Given the description of an element on the screen output the (x, y) to click on. 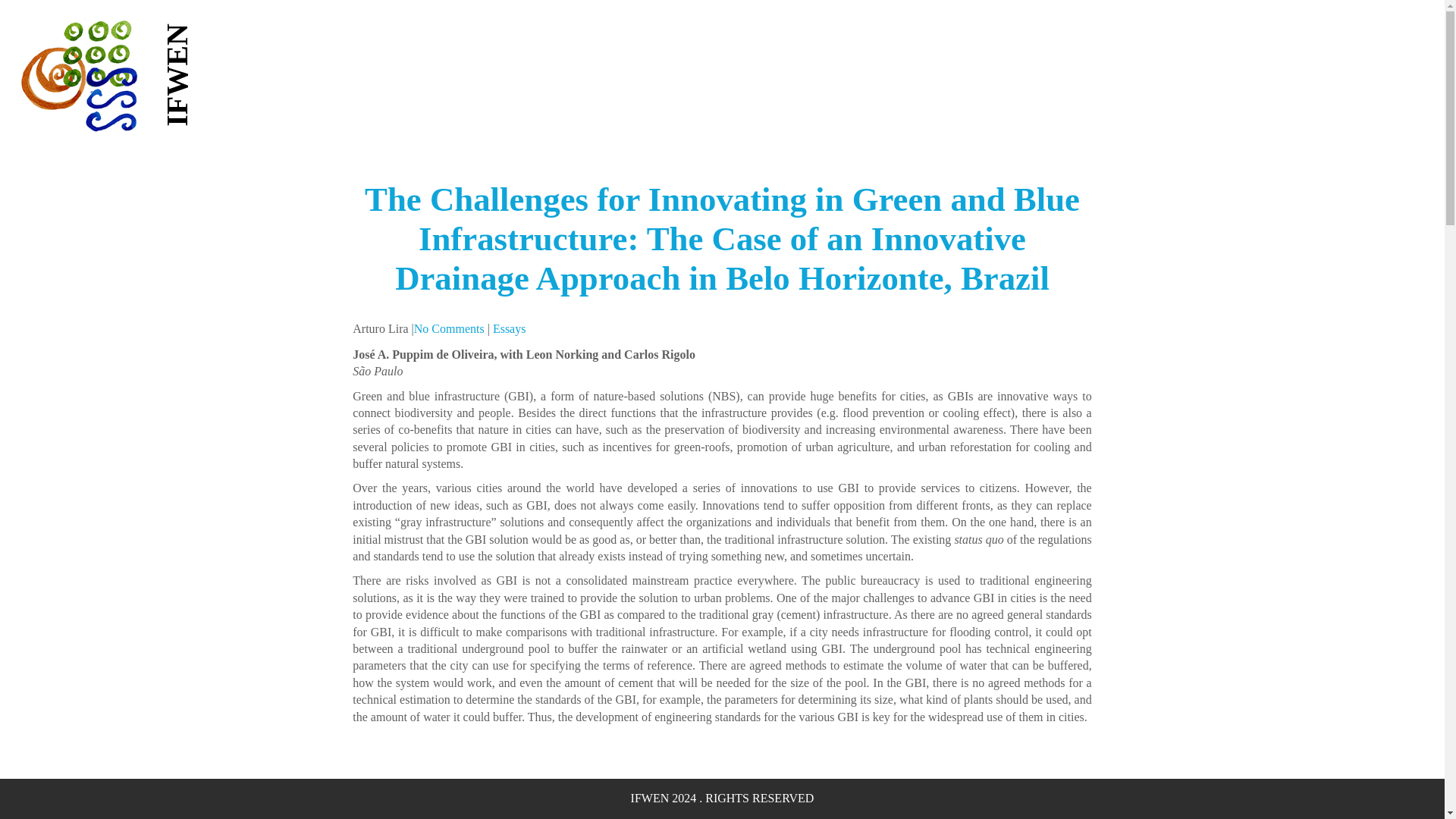
IFWEN (211, 40)
No Comments (448, 328)
Essays (509, 328)
IFWEN 2024 . RIGHTS RESERVED (721, 797)
